Given the description of an element on the screen output the (x, y) to click on. 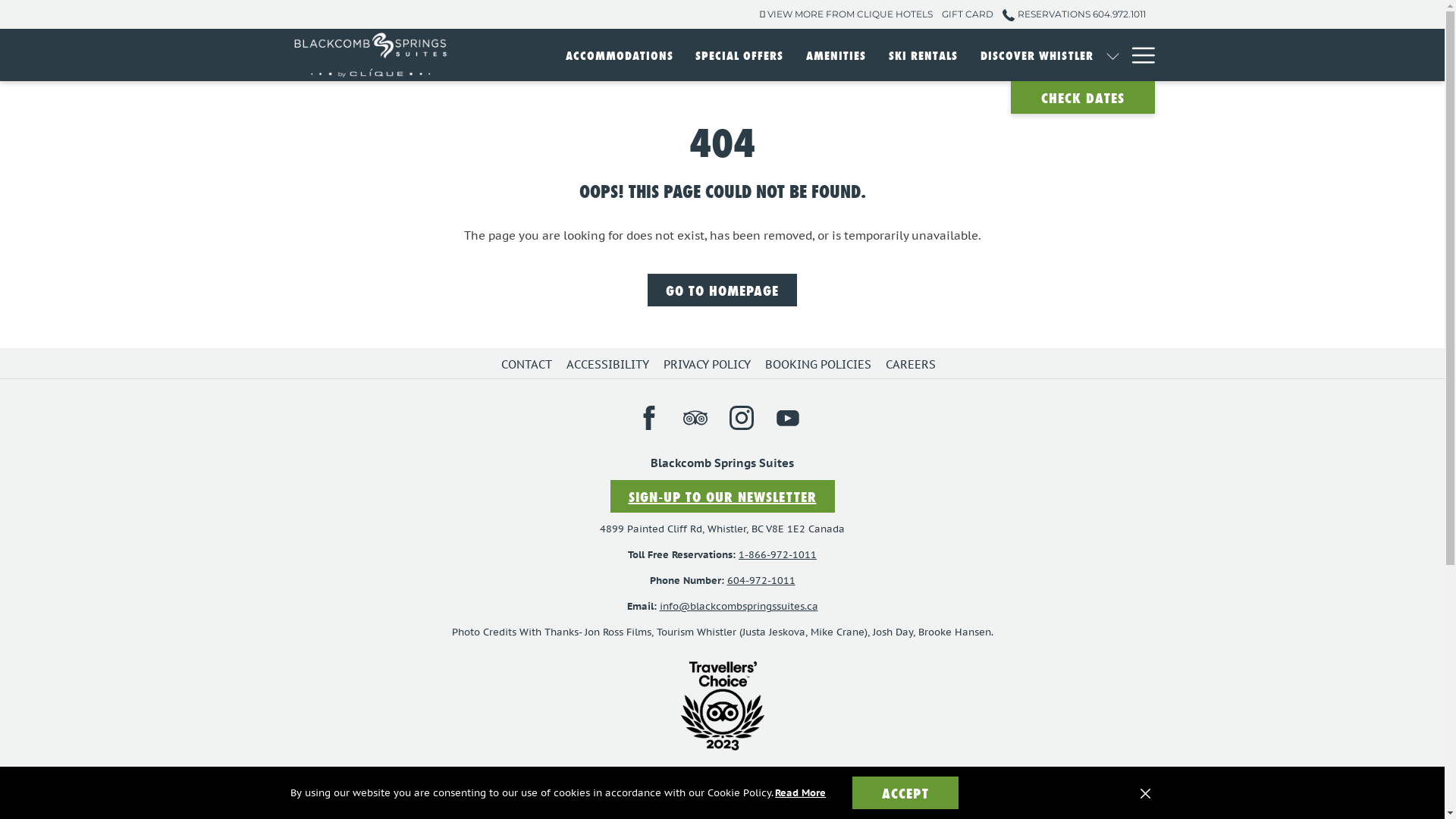
PRIVACY POLICY Element type: text (708, 364)
SIGN-UP TO OUR NEWSLETTER Element type: text (721, 496)
DISCOVER WHISTLER Element type: text (1036, 54)
GO TO HOMEPAGE Element type: text (722, 289)
GIFT CARD Element type: text (967, 13)
CAREERS Element type: text (912, 364)
SKI RENTALS Element type: text (923, 54)
AMENITIES Element type: text (835, 54)
More link
Menu Element type: text (1137, 54)
SPECIAL OFFERS Element type: text (739, 54)
BOOKING POLICIES Element type: text (820, 364)
ACCEPT Element type: text (905, 792)
RESERVATIONS 604.972.1011 Element type: text (1069, 13)
CHECK DATES Element type: text (1082, 97)
CONTACT Element type: text (528, 364)
info@blackcombspringssuites.ca Element type: text (738, 605)
Back to the homepage Element type: hover (370, 54)
Read More
(opens in a new tab) Element type: text (800, 792)
1-866-972-1011 Element type: text (777, 554)
604-972-1011 Element type: text (760, 580)
ACCESSIBILITY Element type: text (609, 364)
ACCOMMODATIONS Element type: text (619, 54)
